Given the description of an element on the screen output the (x, y) to click on. 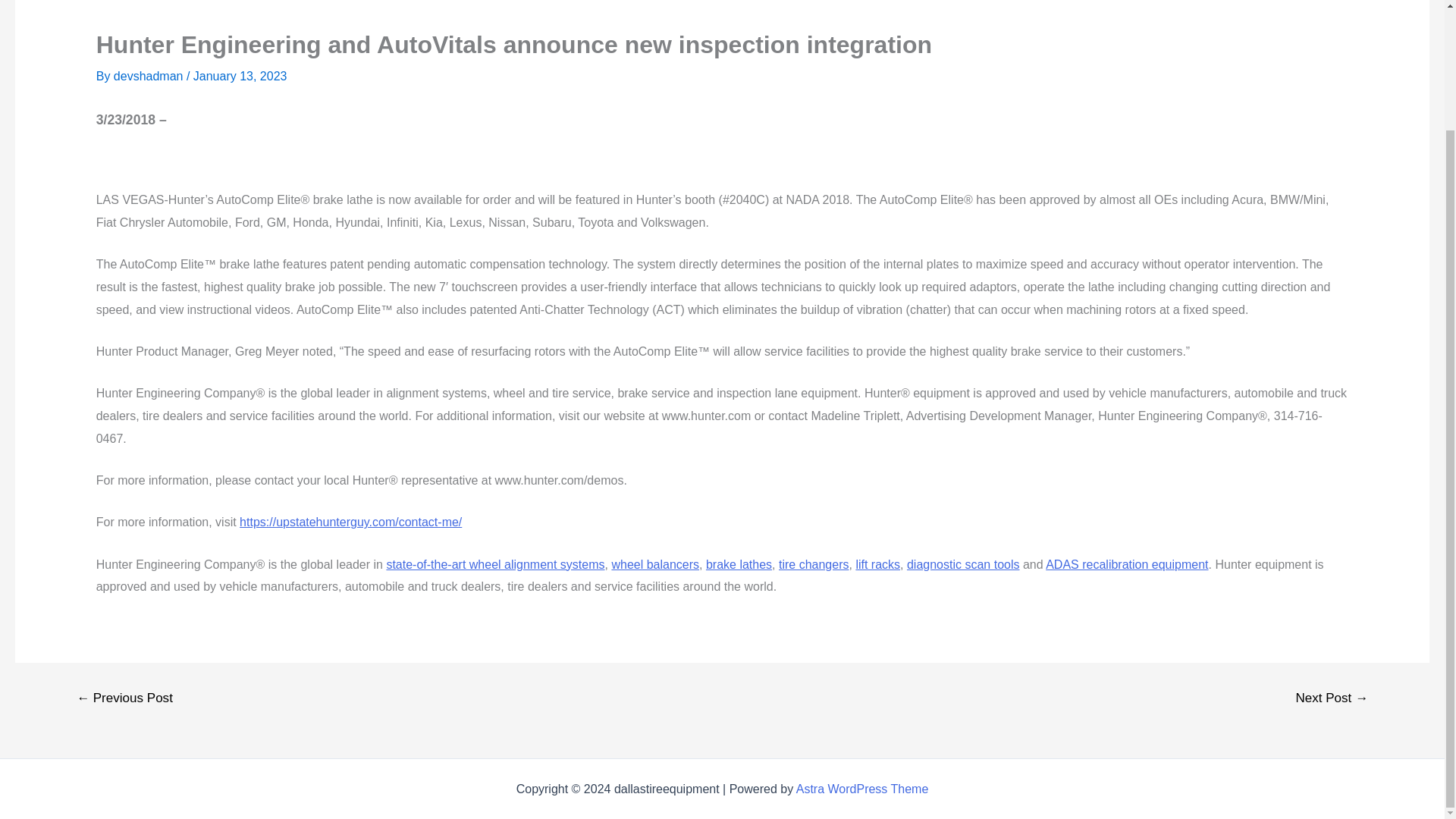
ADAS recalibration equipment (1126, 563)
Astra WordPress Theme (862, 788)
lift racks (877, 563)
devshadman (149, 75)
diagnostic scan tools (963, 563)
tire changers (813, 563)
state-of-the-art wheel alignment systems (494, 563)
wheel balancers (654, 563)
View all posts by devshadman (149, 75)
brake lathes (738, 563)
